Given the description of an element on the screen output the (x, y) to click on. 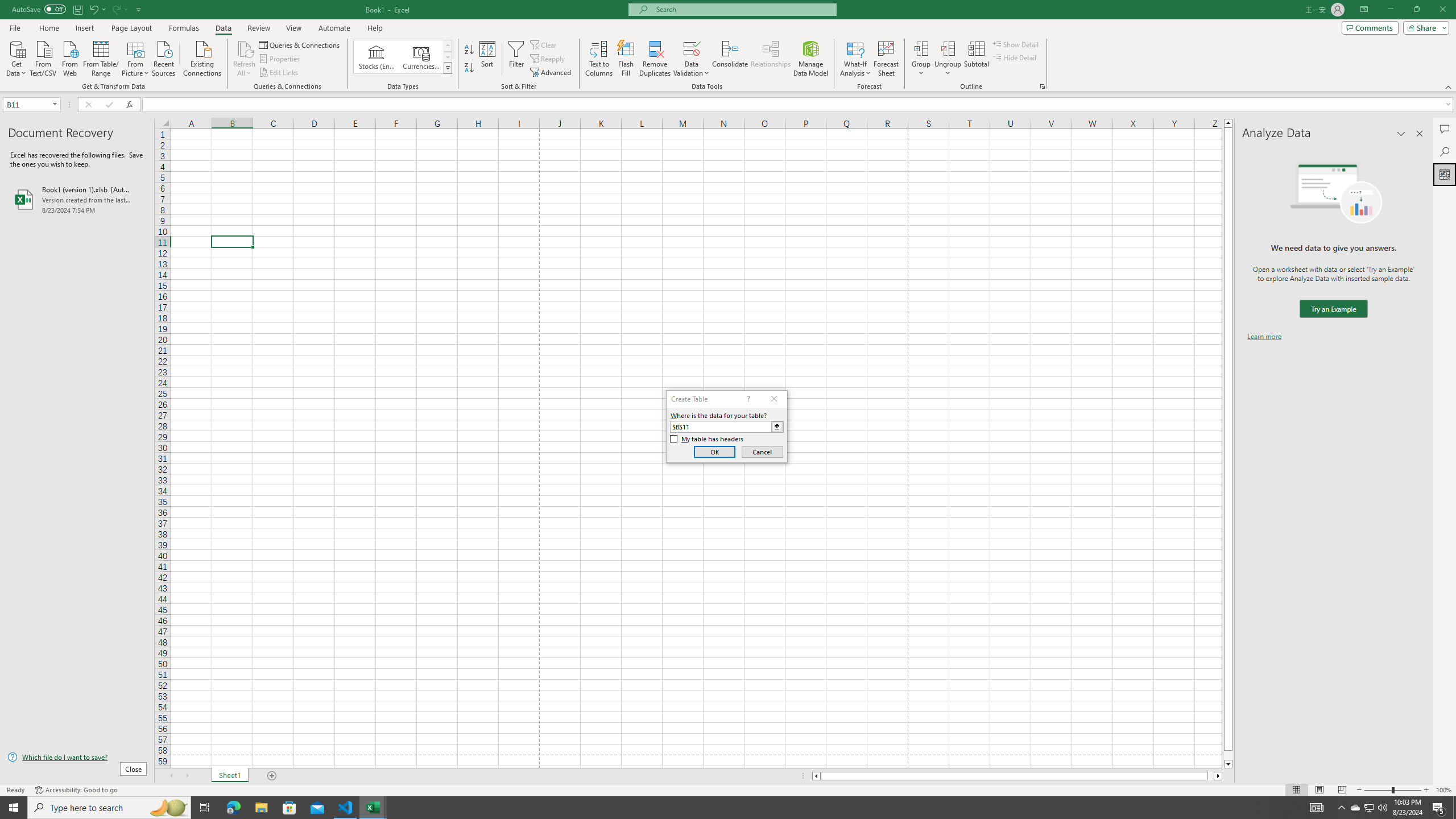
Task Pane Options (1400, 133)
Group... (921, 48)
Row up (448, 45)
Filter (515, 58)
Restore Down (1416, 9)
Data Validation... (691, 58)
File Tab (15, 27)
Forecast Sheet (885, 58)
Properties (280, 58)
Consolidate... (729, 58)
Which file do I want to save? (77, 757)
We need data to give you answers. Try an Example (1333, 308)
Queries & Connections (300, 44)
Zoom Out (1377, 790)
